Given the description of an element on the screen output the (x, y) to click on. 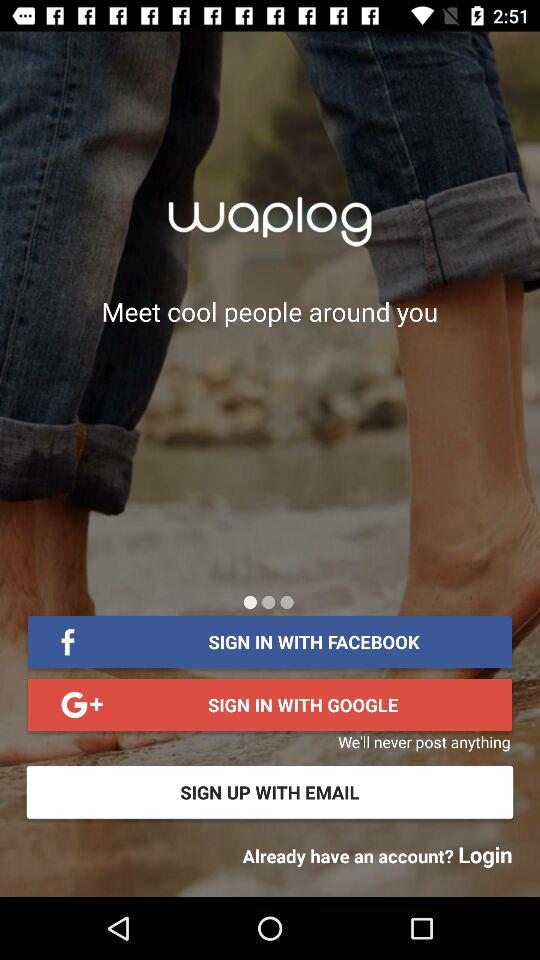
go to next screen (268, 602)
